Given the description of an element on the screen output the (x, y) to click on. 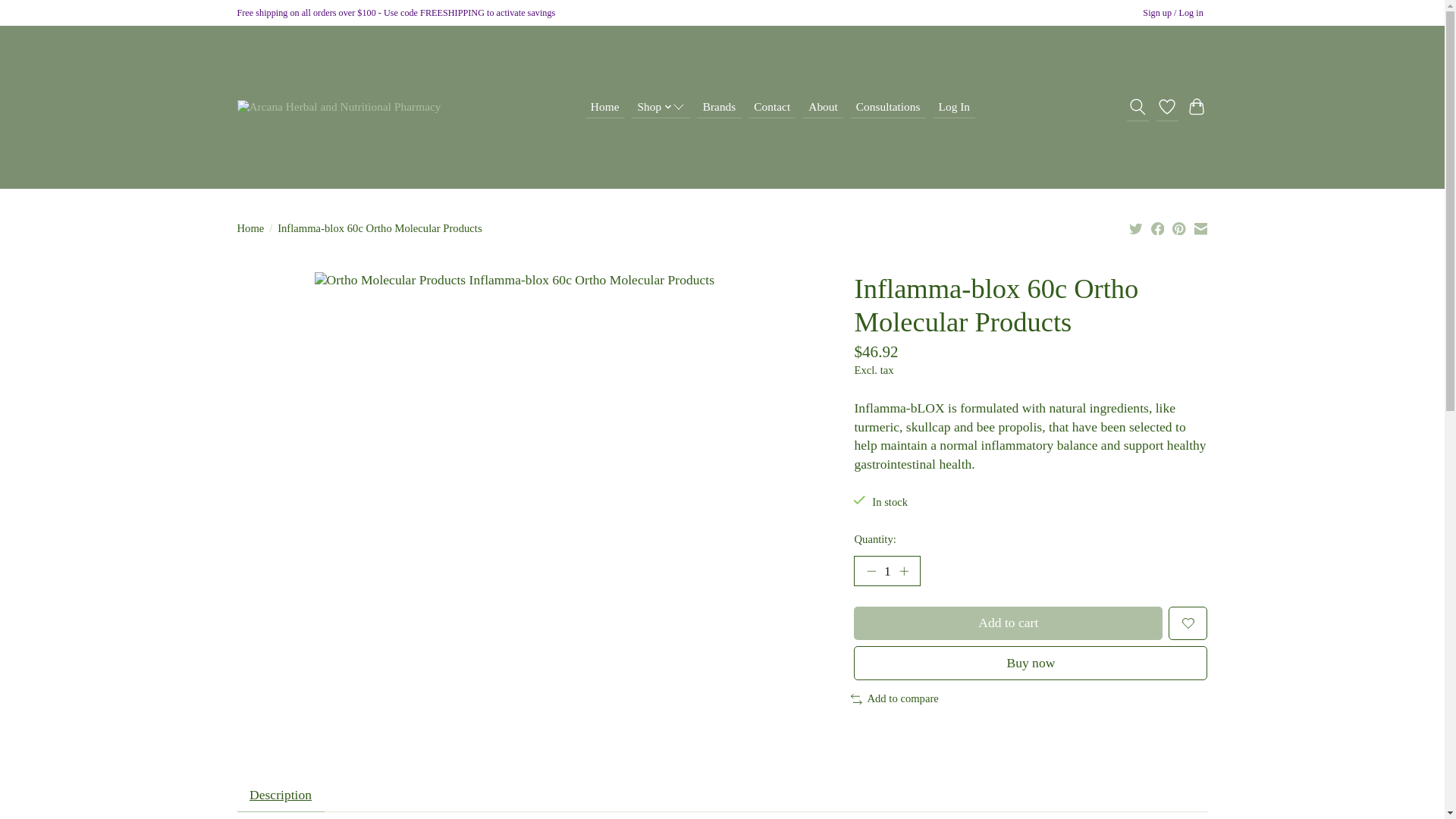
My account (1173, 13)
Shop (660, 106)
1 (886, 571)
Share on Pinterest (1178, 228)
Home (604, 106)
Share on Twitter (1135, 228)
Share on Facebook (1157, 228)
Arcana Herbal and Nutritional Pharmacy (338, 106)
Share by Email (1200, 228)
